Given the description of an element on the screen output the (x, y) to click on. 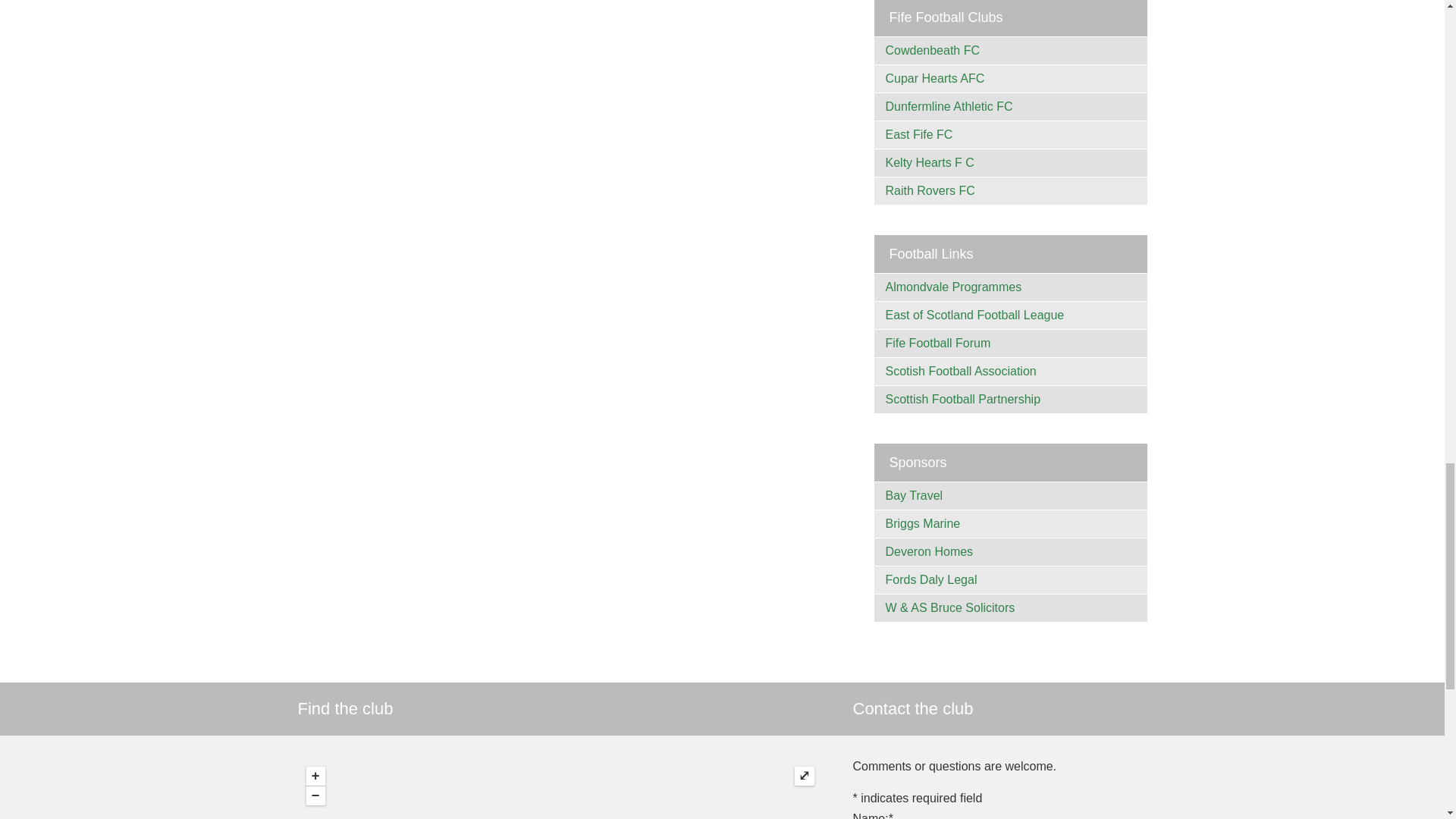
Zoom in (314, 774)
Dunfermline Athletic website (949, 106)
East Fife FC Website (919, 133)
Cowdenbeath Fc website (932, 50)
Official SFA Site (960, 369)
Football Memorabilia (953, 286)
Luxury Coach Hire (914, 494)
Kingdom league team from Cupar (935, 77)
Raith Rovers FC Website (930, 189)
Zoom out (314, 795)
New build homes (929, 550)
